Given the description of an element on the screen output the (x, y) to click on. 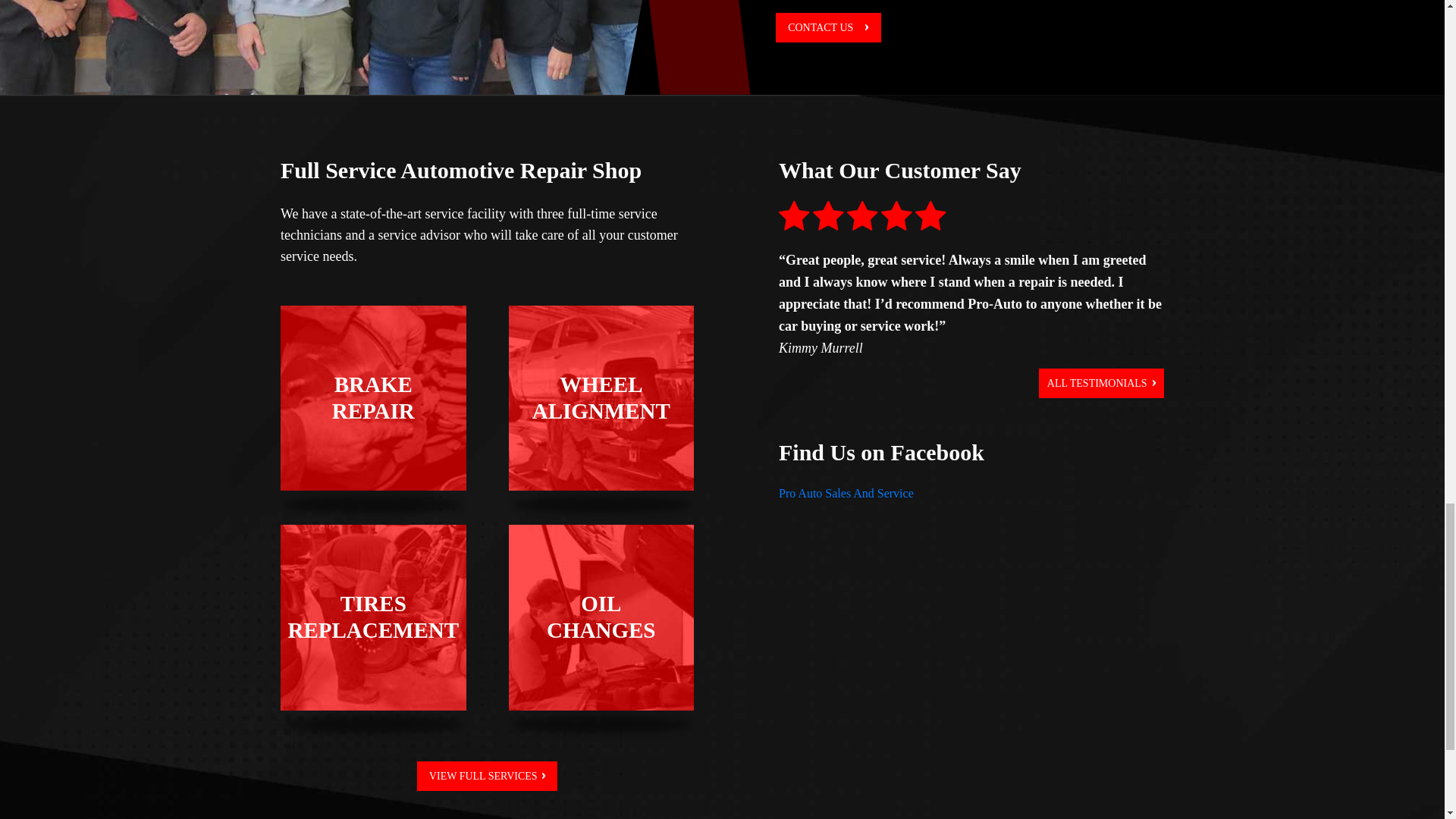
VIEW FULL SERVICES (601, 617)
CONTACT US (601, 398)
